Given the description of an element on the screen output the (x, y) to click on. 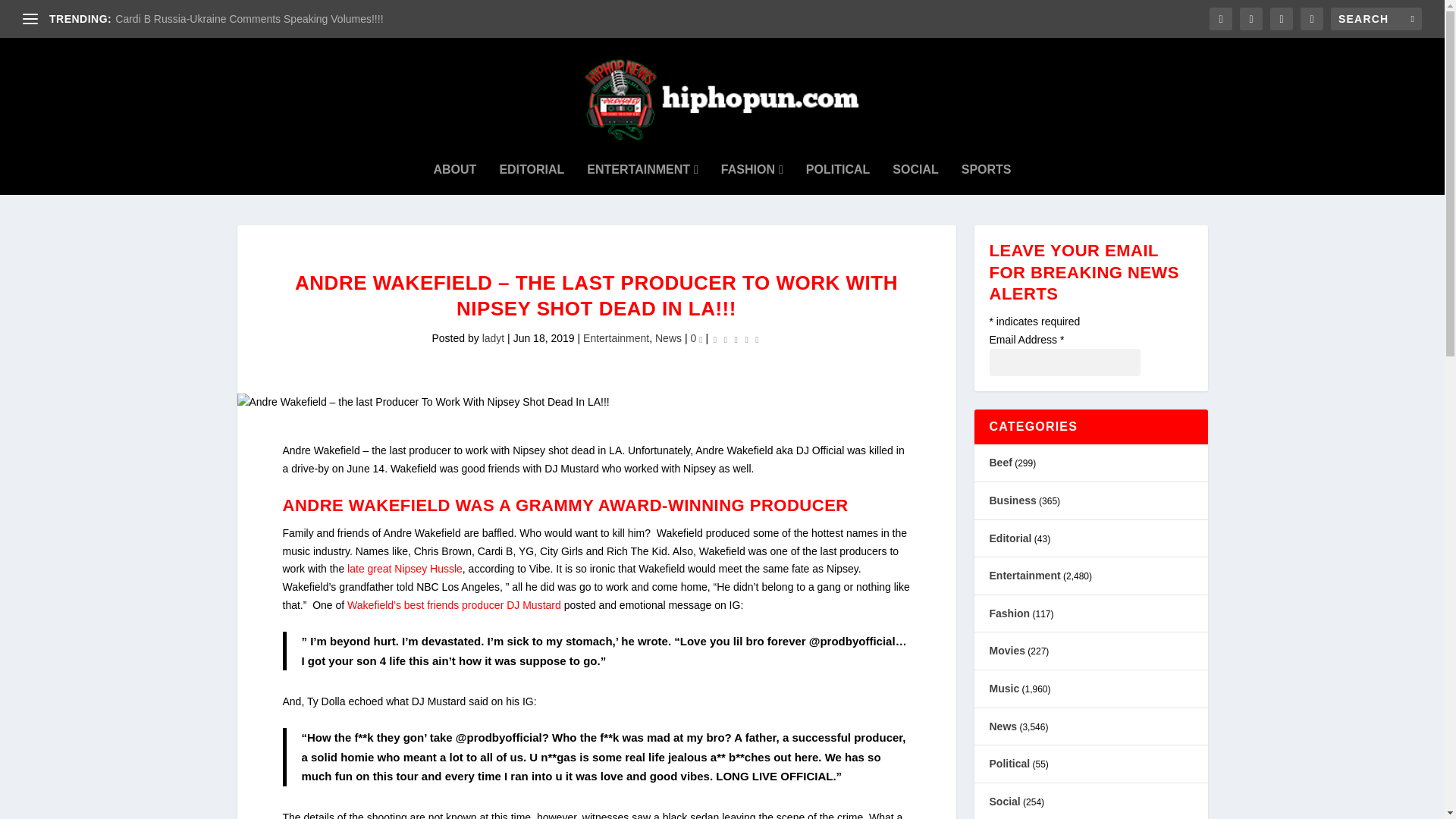
Cardi B Russia-Ukraine Comments Speaking Volumes!!!! (248, 19)
FASHION (751, 169)
ENTERTAINMENT (642, 169)
Search for: (1376, 18)
EDITORIAL (531, 169)
